Given the description of an element on the screen output the (x, y) to click on. 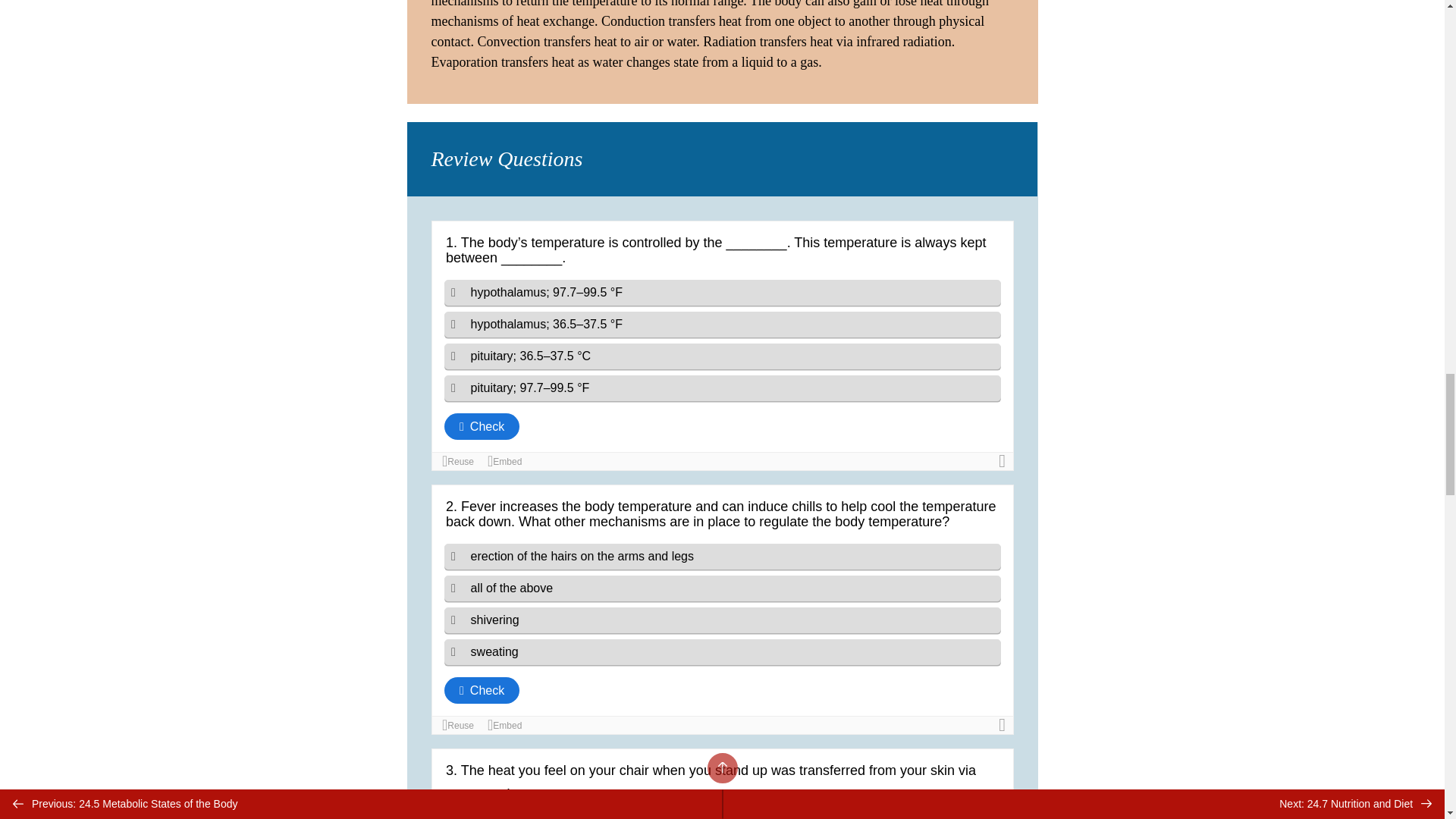
Ch 24.6 Q3 (721, 783)
